Given the description of an element on the screen output the (x, y) to click on. 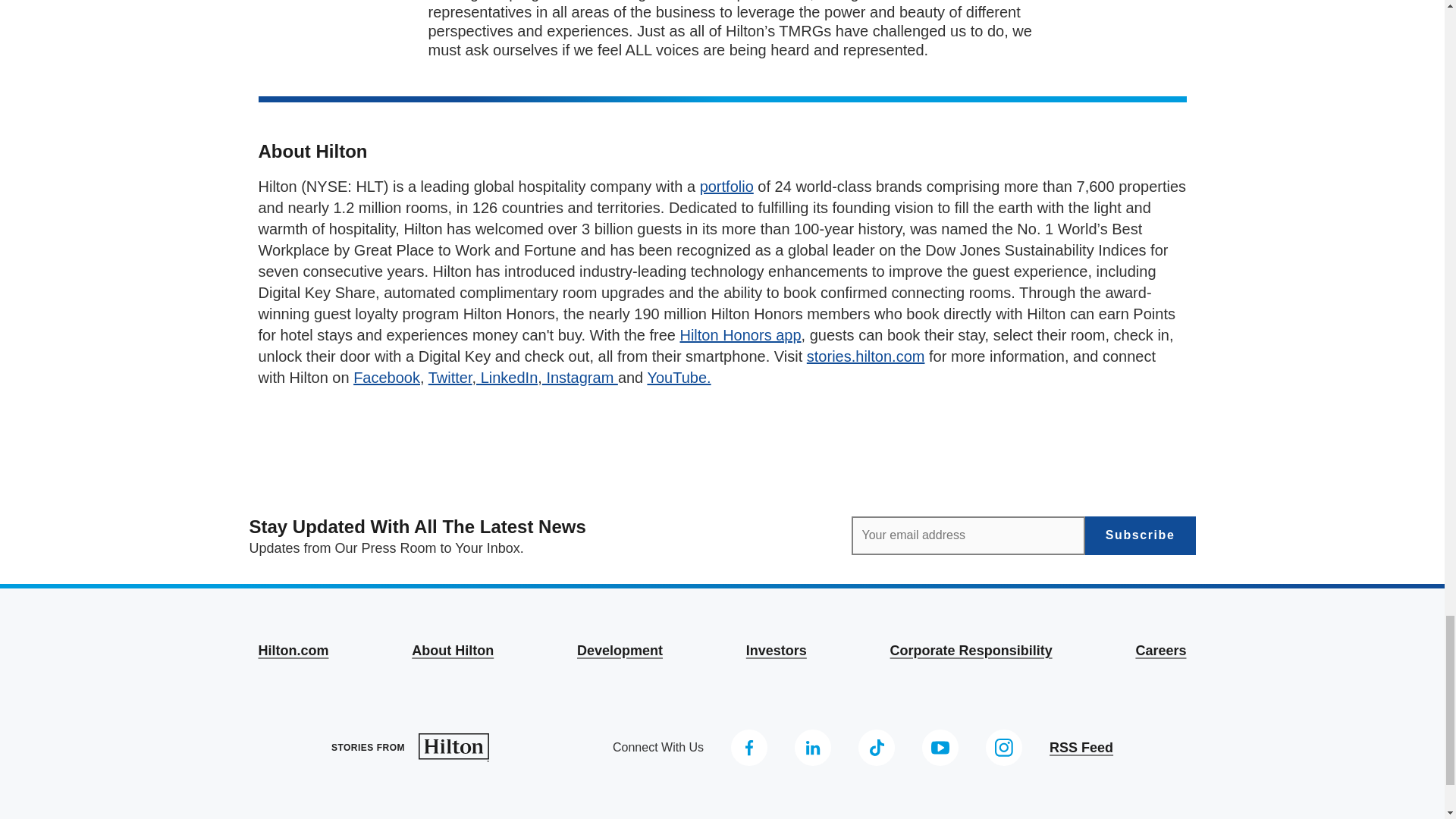
Subscribe (1139, 535)
